Given the description of an element on the screen output the (x, y) to click on. 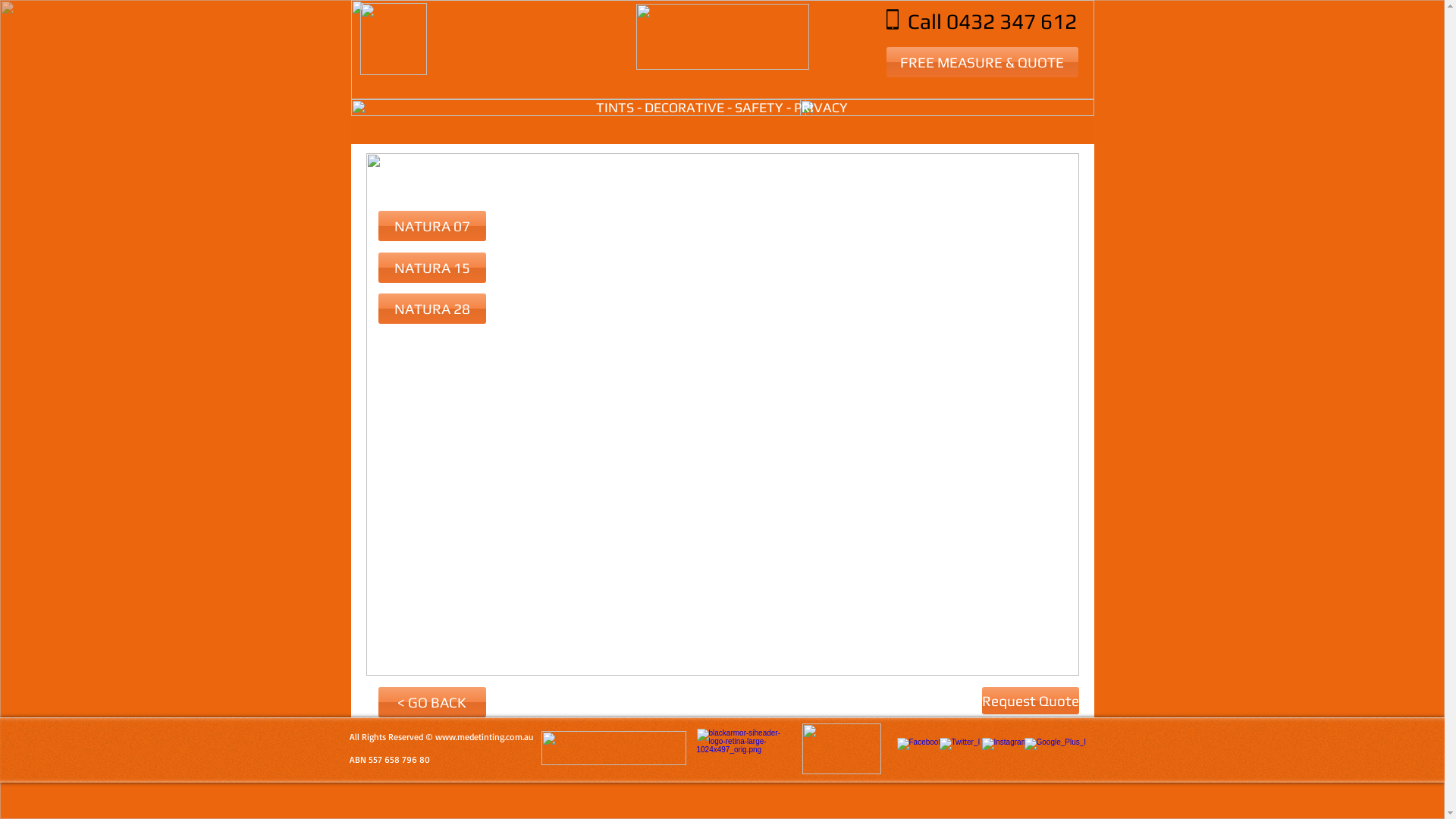
FREE MEASURE & QUOTE Element type: text (981, 62)
Request Quote Element type: text (1029, 700)
NATURA 28 Element type: text (431, 308)
www.medetinting.com.au Element type: text (484, 736)
< GO BACK Element type: text (431, 702)
NATURA 07 Element type: text (431, 225)
NATURA 15 Element type: text (431, 267)
Logo--WFAANZ---Hi-Res.jpg Element type: hover (841, 748)
Facebook Like Element type: hover (1064, 726)
